Given the description of an element on the screen output the (x, y) to click on. 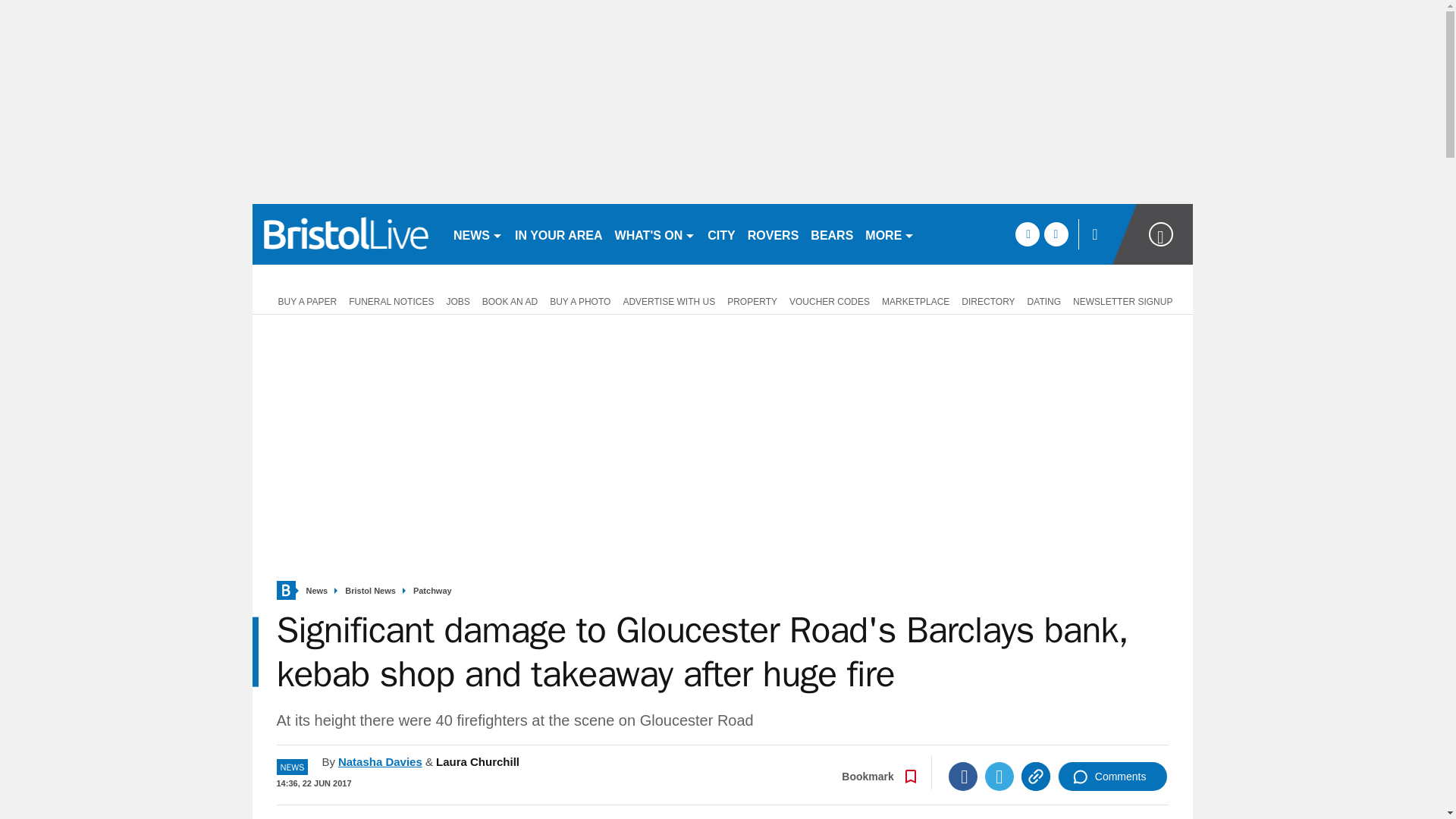
bristolpost (345, 233)
NEWS (477, 233)
WHAT'S ON (654, 233)
BEARS (832, 233)
Comments (1112, 776)
facebook (1026, 233)
MORE (889, 233)
twitter (1055, 233)
IN YOUR AREA (558, 233)
ROVERS (773, 233)
